Given the description of an element on the screen output the (x, y) to click on. 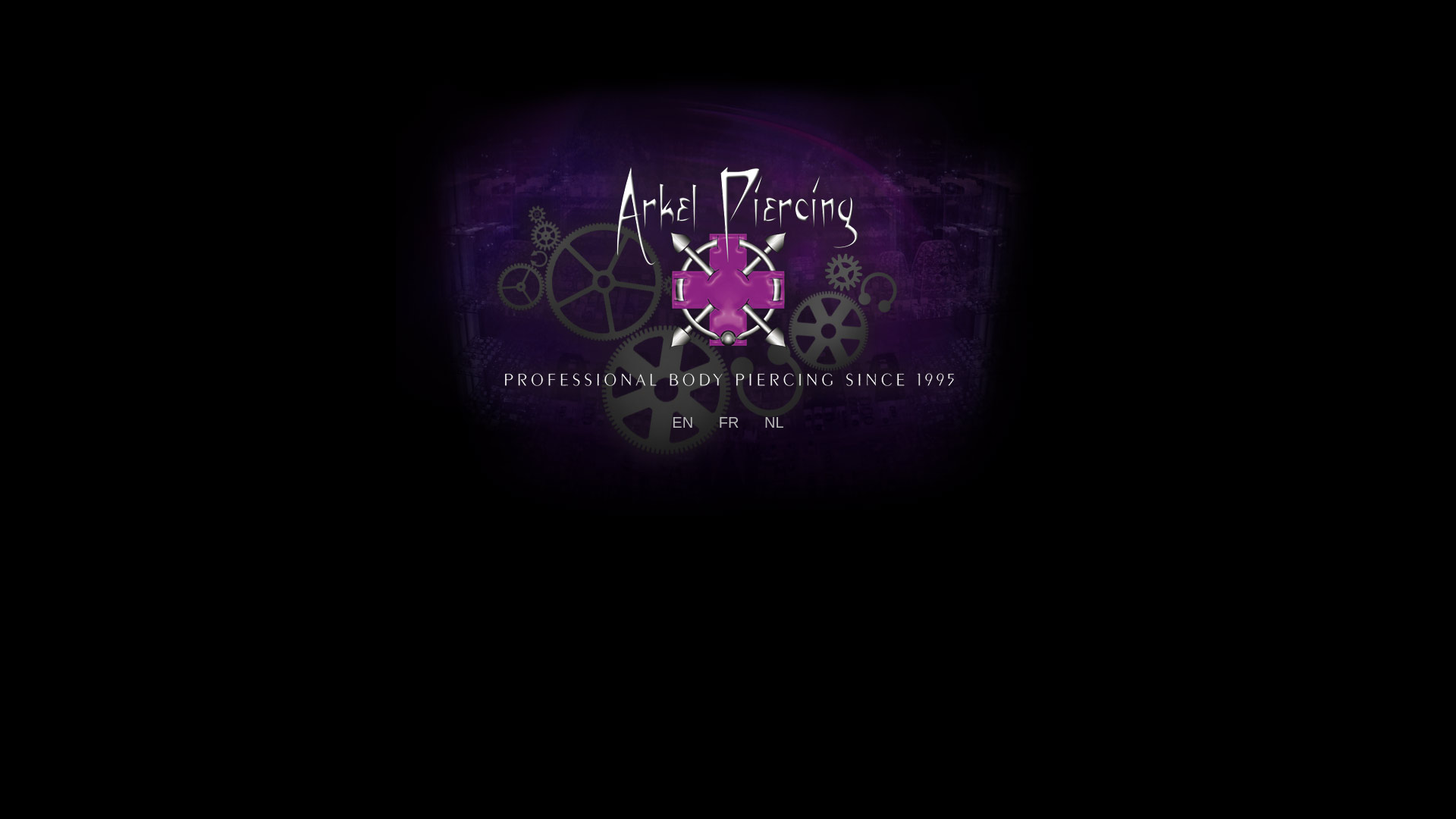
NL Element type: text (774, 422)
EN Element type: text (682, 422)
FR Element type: text (728, 422)
